Given the description of an element on the screen output the (x, y) to click on. 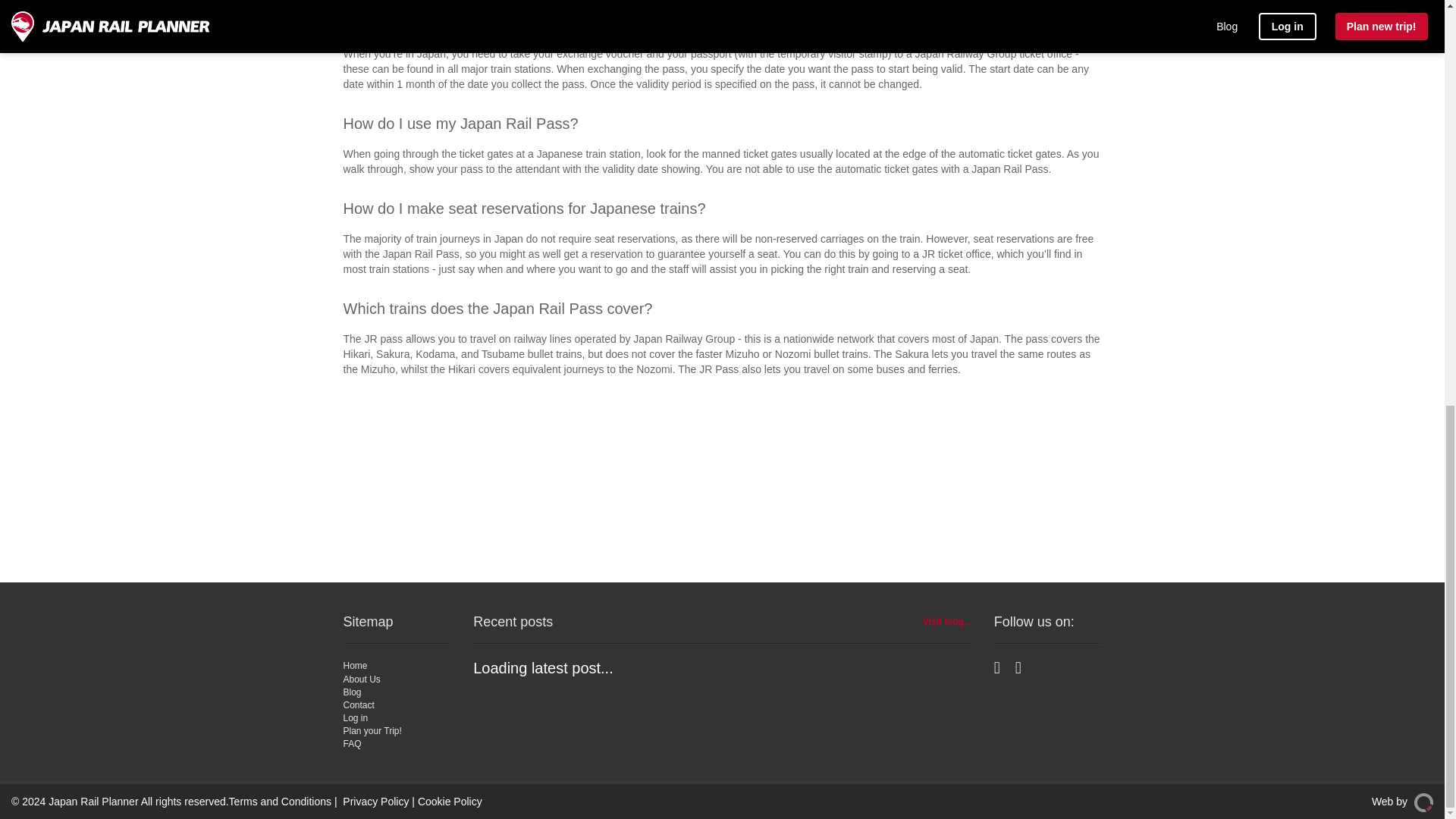
Japan Rail Planner (93, 801)
Plan your Trip! (371, 730)
Contact (358, 705)
Privacy Policy (375, 801)
Terms and Conditions (279, 801)
Visit blog... (947, 621)
Log in (355, 717)
Cookie Policy (449, 801)
About Us (361, 679)
Home (354, 665)
